Given the description of an element on the screen output the (x, y) to click on. 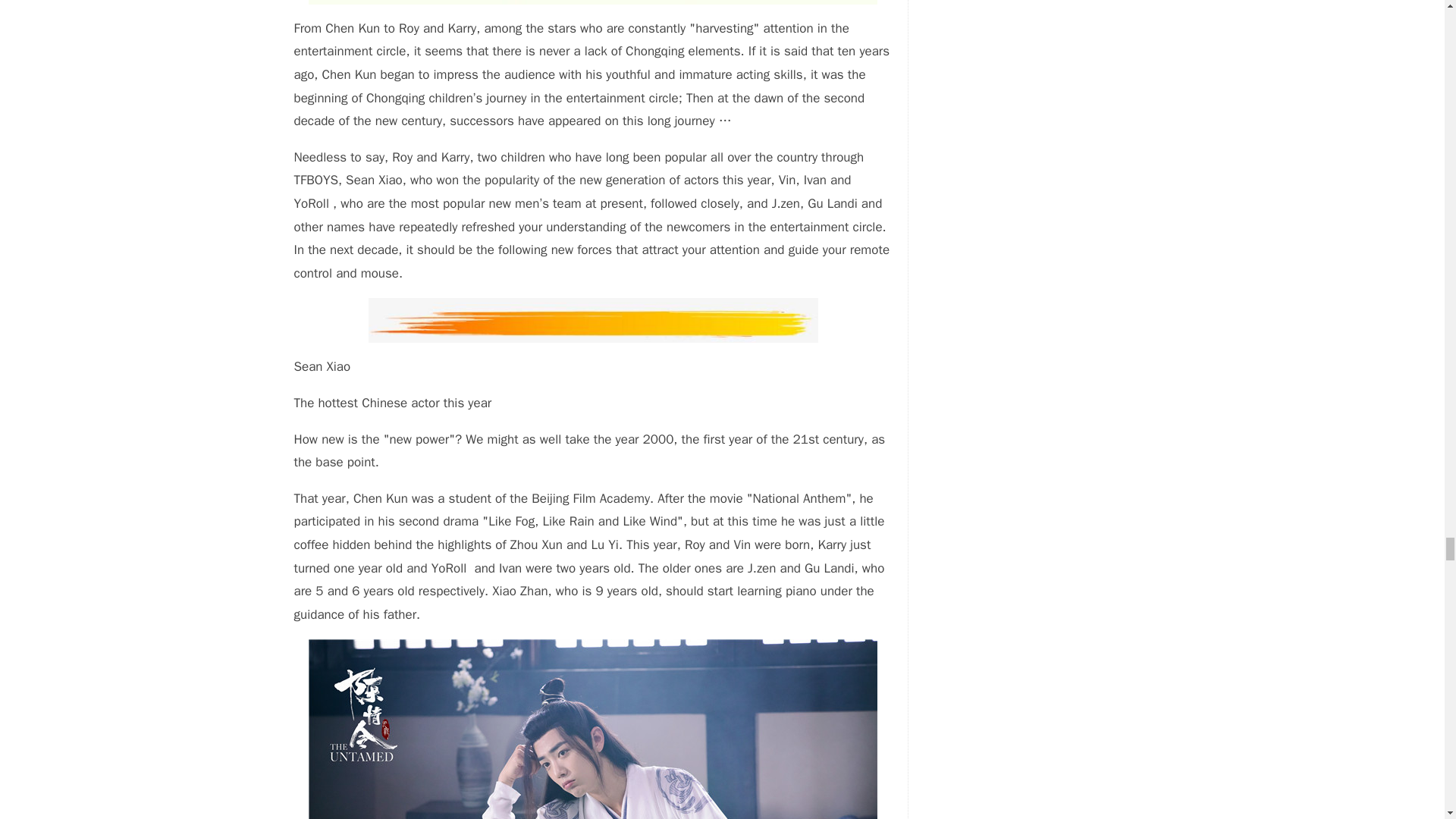
52a0152d4090a24ceb82d2604e688c9f.jpg (592, 729)
28dd107c7cd17a97aa7c776e487d7376.png (593, 320)
